Given the description of an element on the screen output the (x, y) to click on. 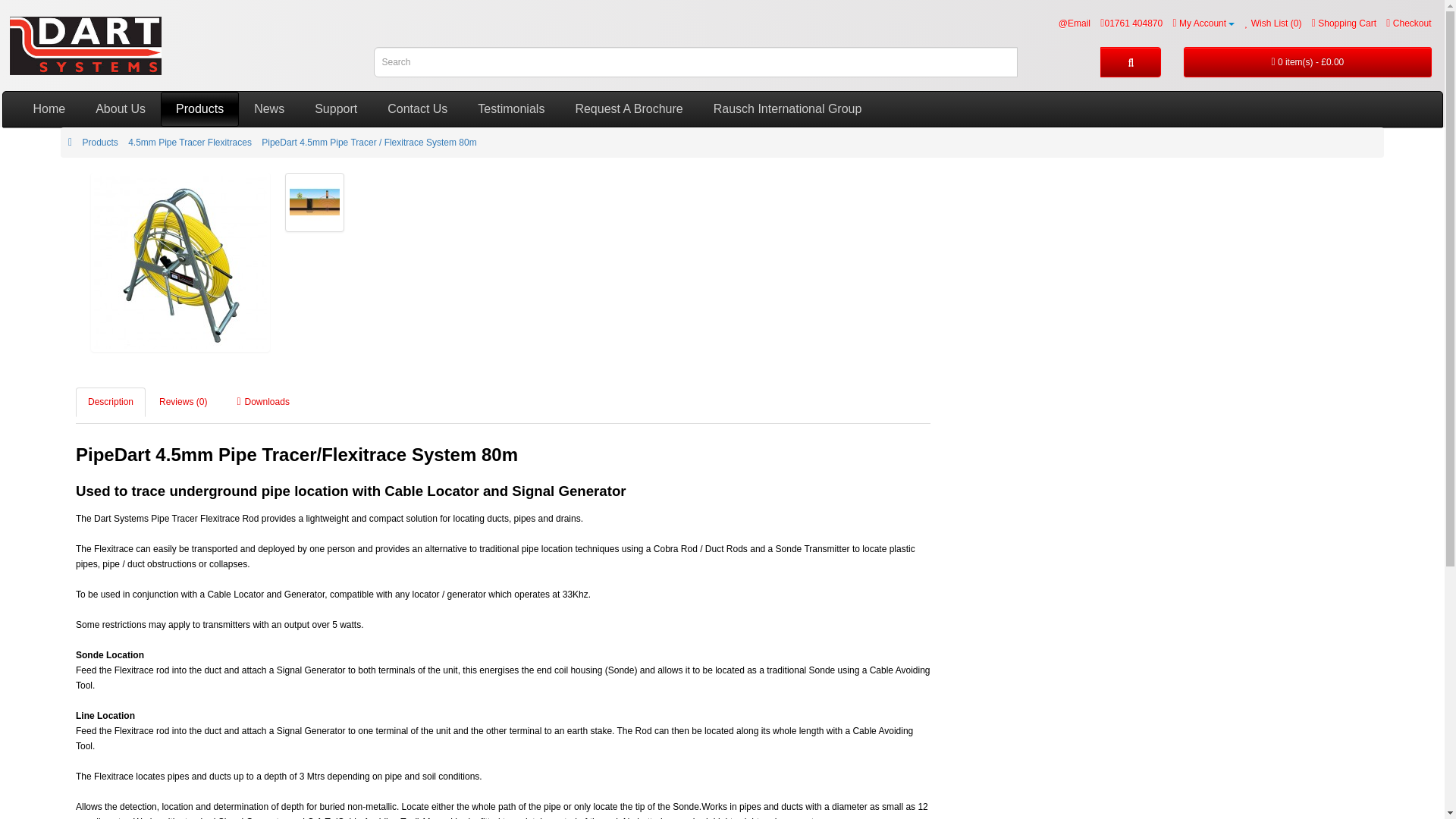
Contact Us (417, 108)
Shopping Cart (1343, 23)
Testimonials (511, 108)
Checkout (1408, 23)
News (268, 108)
Support (335, 108)
Products (199, 108)
Products (99, 142)
Shopping Cart (1343, 23)
Description (110, 401)
